Given the description of an element on the screen output the (x, y) to click on. 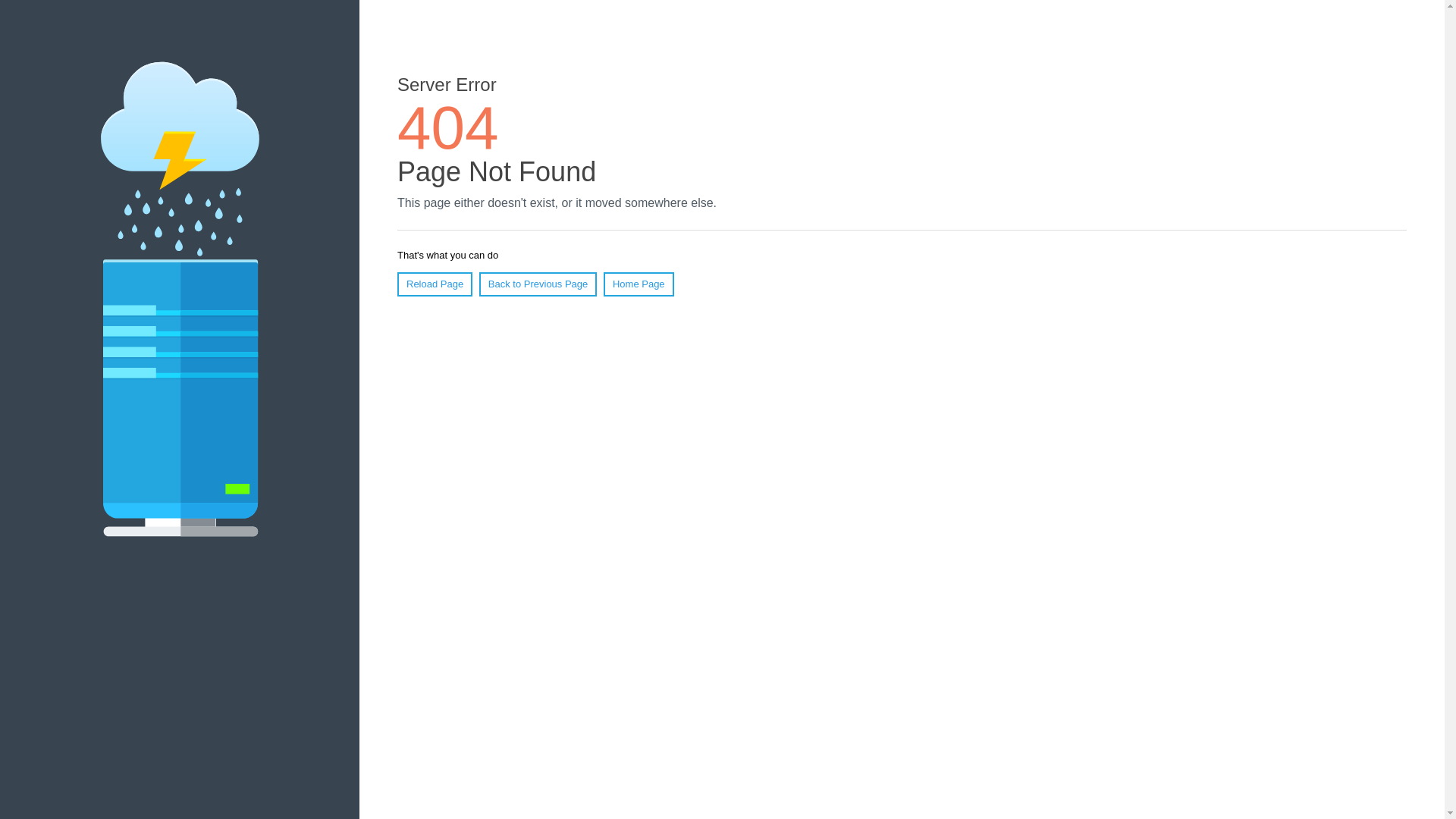
Reload Page Element type: text (434, 284)
Home Page Element type: text (638, 284)
Back to Previous Page Element type: text (538, 284)
